Given the description of an element on the screen output the (x, y) to click on. 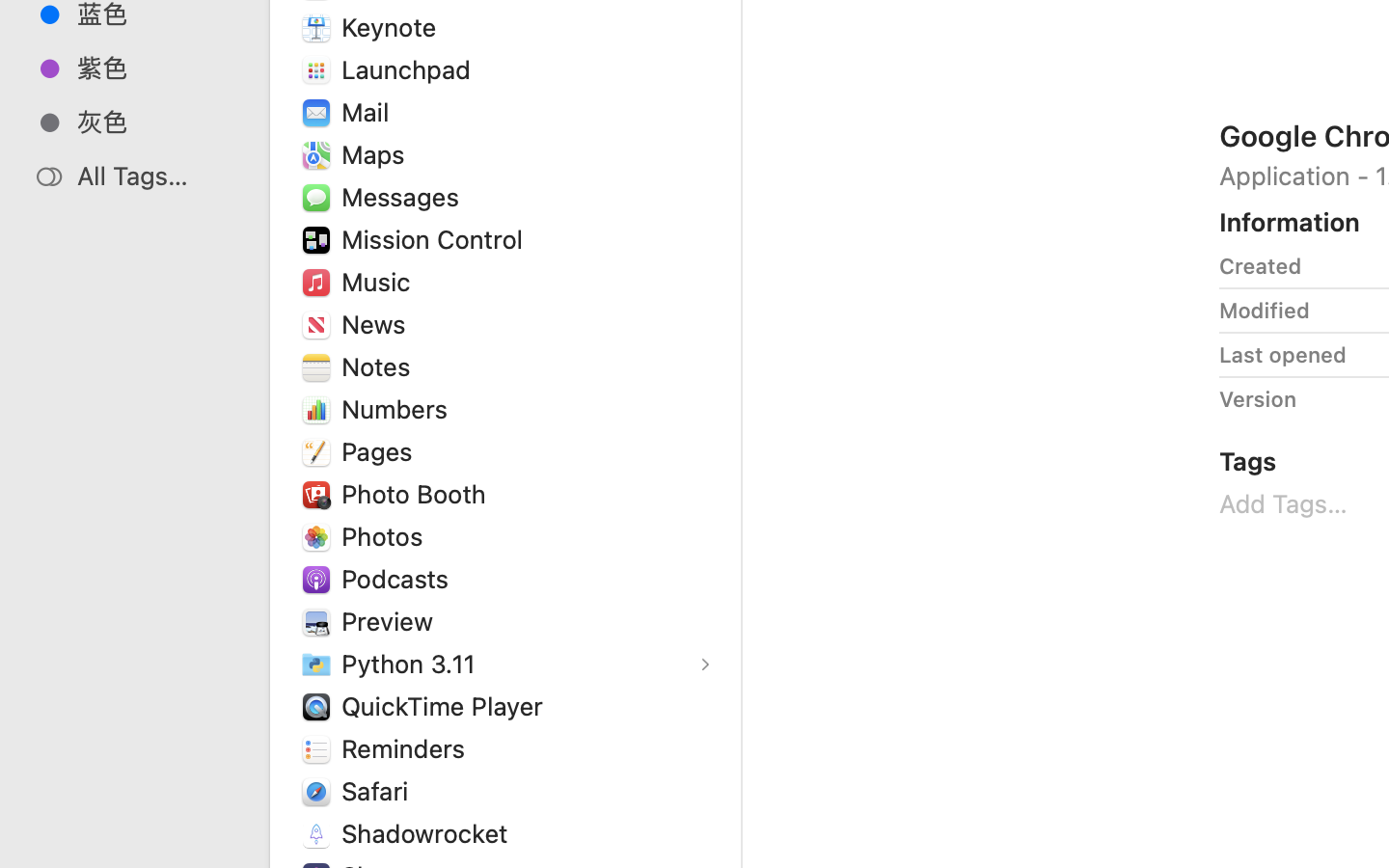
紫色 Element type: AXStaticText (155, 67)
Numbers Element type: AXTextField (399, 408)
QuickTime Player Element type: AXTextField (446, 705)
Maps Element type: AXTextField (376, 153)
Modified Element type: AXStaticText (1264, 310)
